Given the description of an element on the screen output the (x, y) to click on. 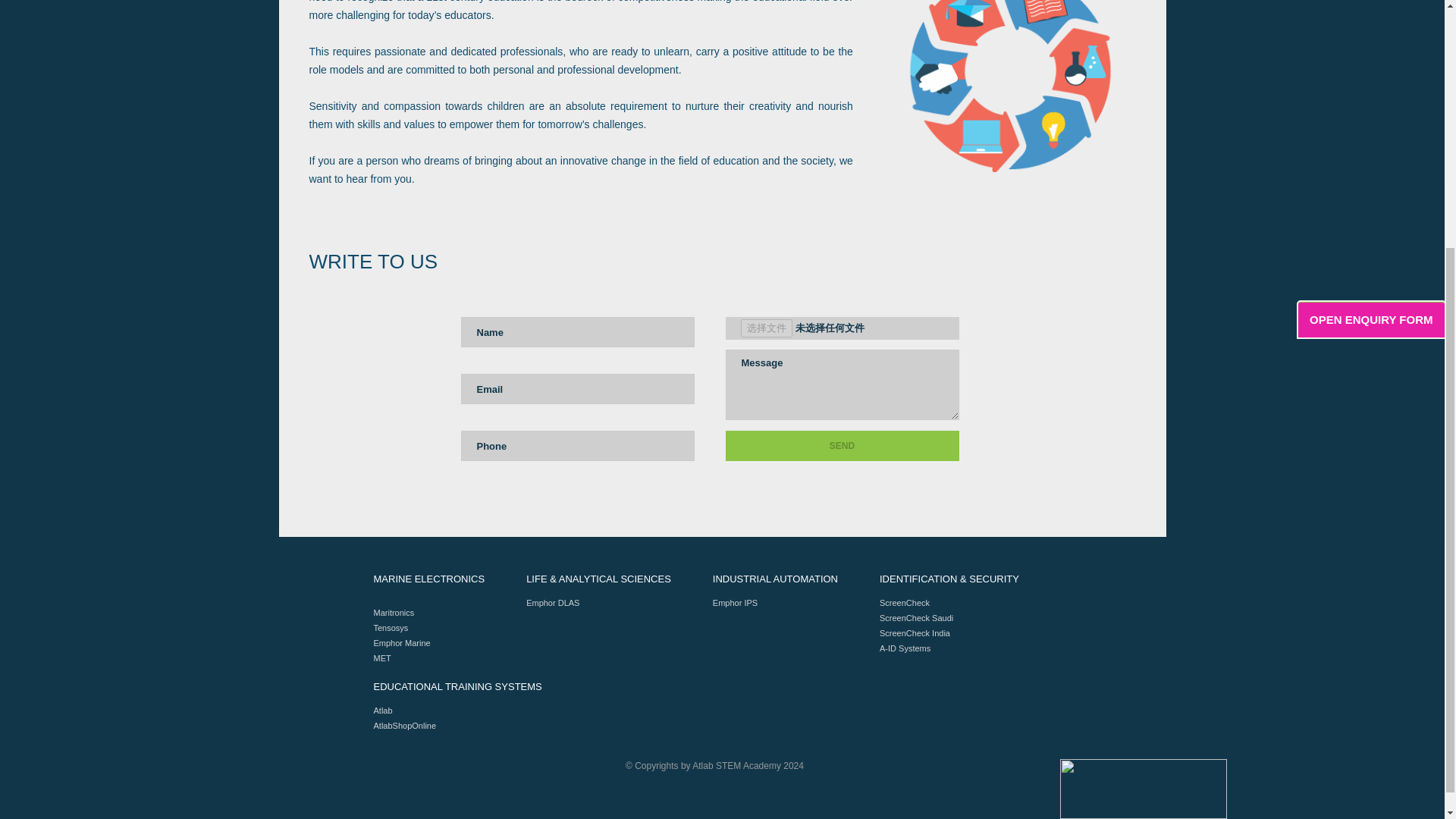
Tensosys (389, 627)
Maritronics (392, 612)
Emphor Marine (400, 642)
Name (577, 331)
Email (577, 388)
MET (381, 657)
ScreenCheck (904, 602)
A-ID Systems (904, 647)
AtlabShopOnline (403, 725)
Emphor DLAS (552, 602)
